Given the description of an element on the screen output the (x, y) to click on. 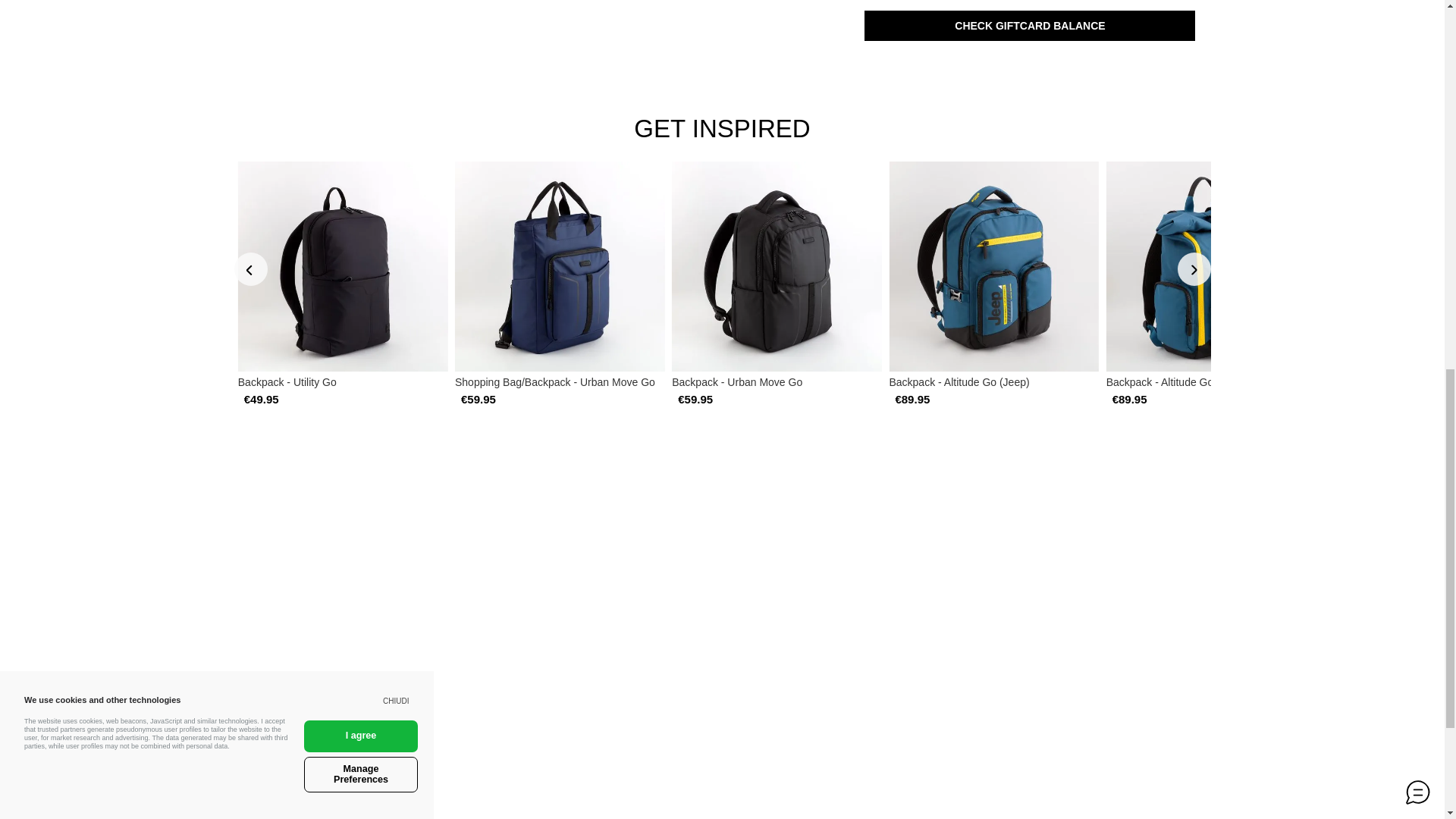
CHECK GIFTCARD BALANCE (1029, 25)
I agree (360, 115)
Manage Preferences (360, 132)
